Given the description of an element on the screen output the (x, y) to click on. 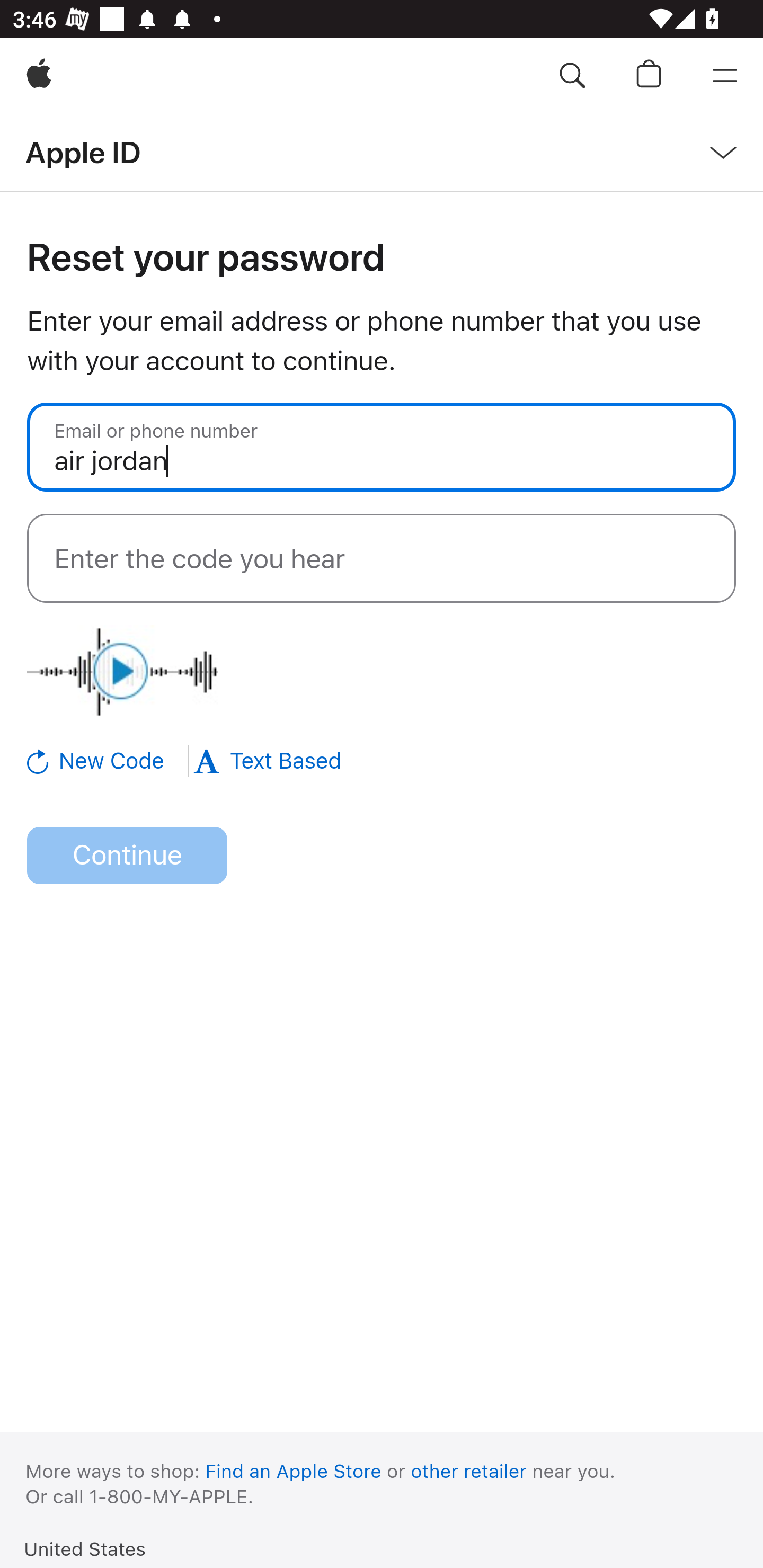
Apple (38, 75)
Search apple.com (572, 75)
Shopping Bag (648, 75)
Menu (724, 75)
Apple ID (83, 151)
air jordan (381, 446)
Play audio challenge (121, 671)
 New Code (108, 760)
 Text Based (266, 760)
Continue (126, 855)
Find an Apple Store (293, 1470)
other retailer (468, 1470)
United States (84, 1548)
